Given the description of an element on the screen output the (x, y) to click on. 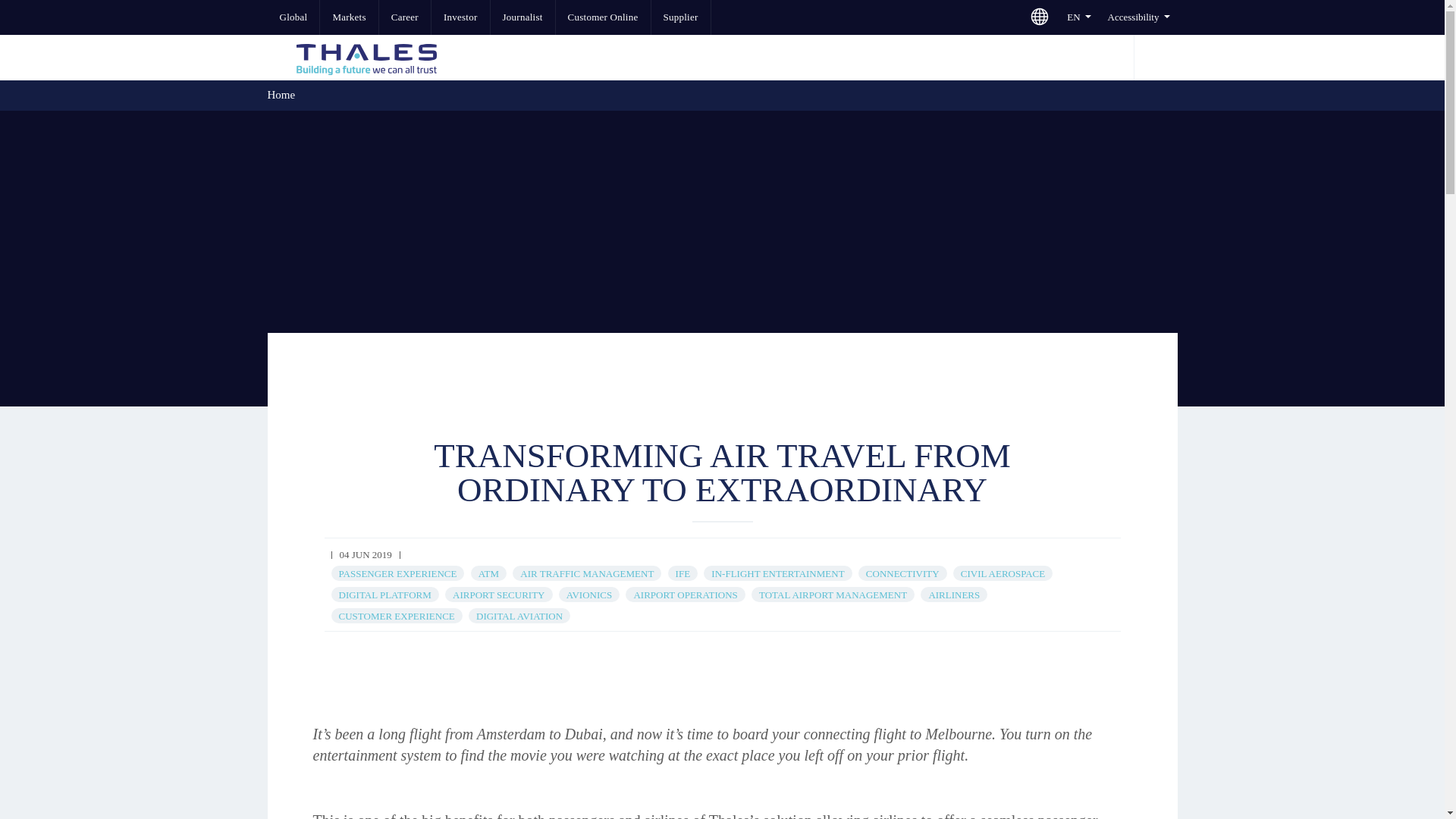
IFE (682, 573)
AIRLINERS (953, 594)
CUSTOMER EXPERIENCE (395, 615)
Markets (348, 17)
DIGITAL AVIATION (519, 615)
TOTAL AIRPORT MANAGEMENT (832, 594)
Search (1154, 57)
Career (404, 17)
AIR TRAFFIC MANAGEMENT (586, 573)
Accessibility (1138, 17)
PASSENGER EXPERIENCE (397, 573)
Investor (459, 17)
CONNECTIVITY (902, 573)
Customer Online (603, 17)
DIGITAL PLATFORM (383, 594)
